Given the description of an element on the screen output the (x, y) to click on. 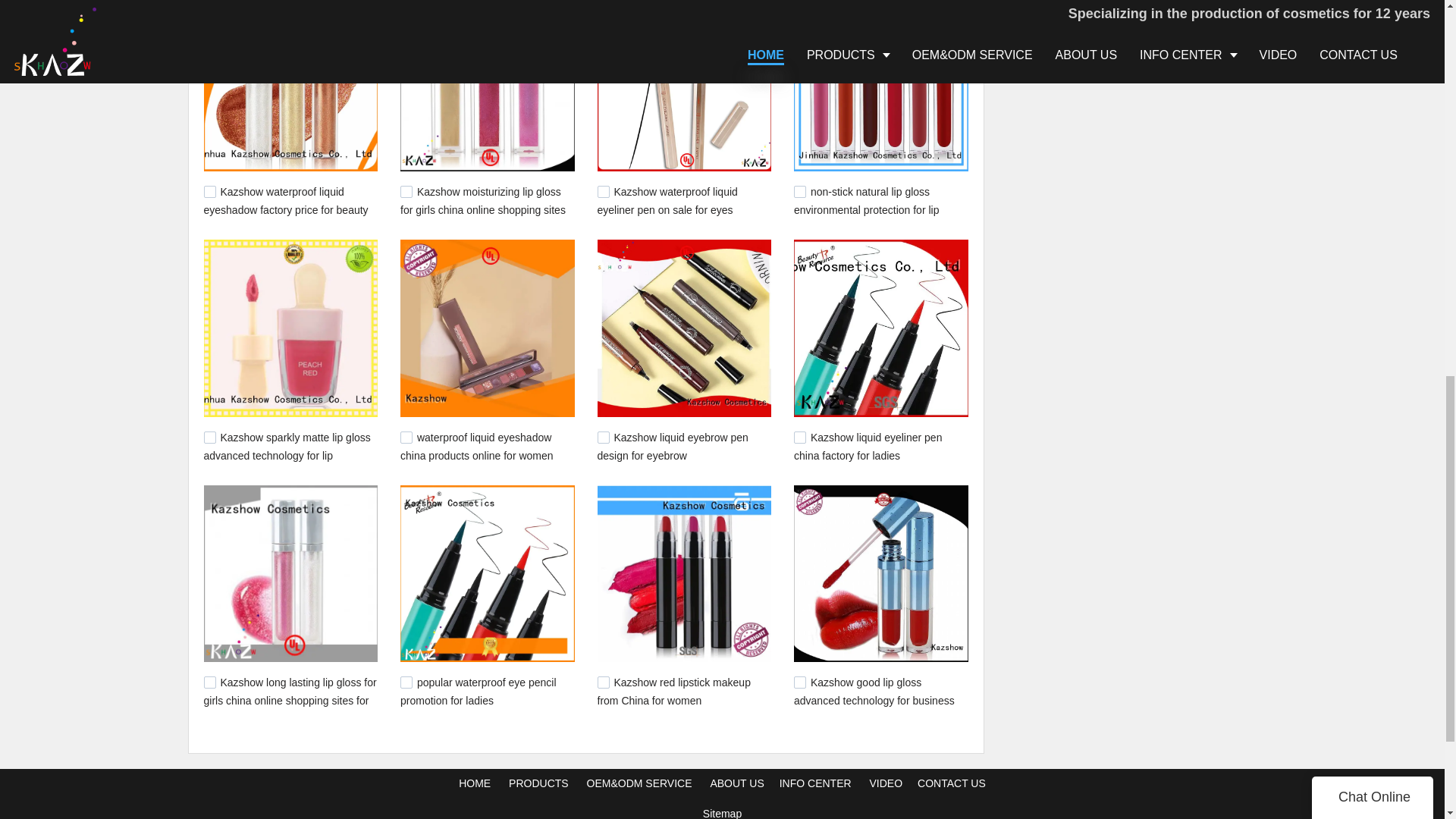
2389 (209, 682)
popular waterproof eye pencil promotion for ladies (478, 691)
2527 (209, 191)
Kazshow waterproof liquid eyeshadow factory price for beauty (285, 200)
2466 (209, 437)
waterproof liquid eyeshadow china products online for women (476, 446)
Kazshow red lipstick makeup from China for women (673, 691)
Kazshow liquid eyeliner pen china factory for ladies (867, 446)
2496 (799, 191)
2446 (603, 437)
2251 (603, 682)
2451 (406, 437)
2289 (406, 682)
